Given the description of an element on the screen output the (x, y) to click on. 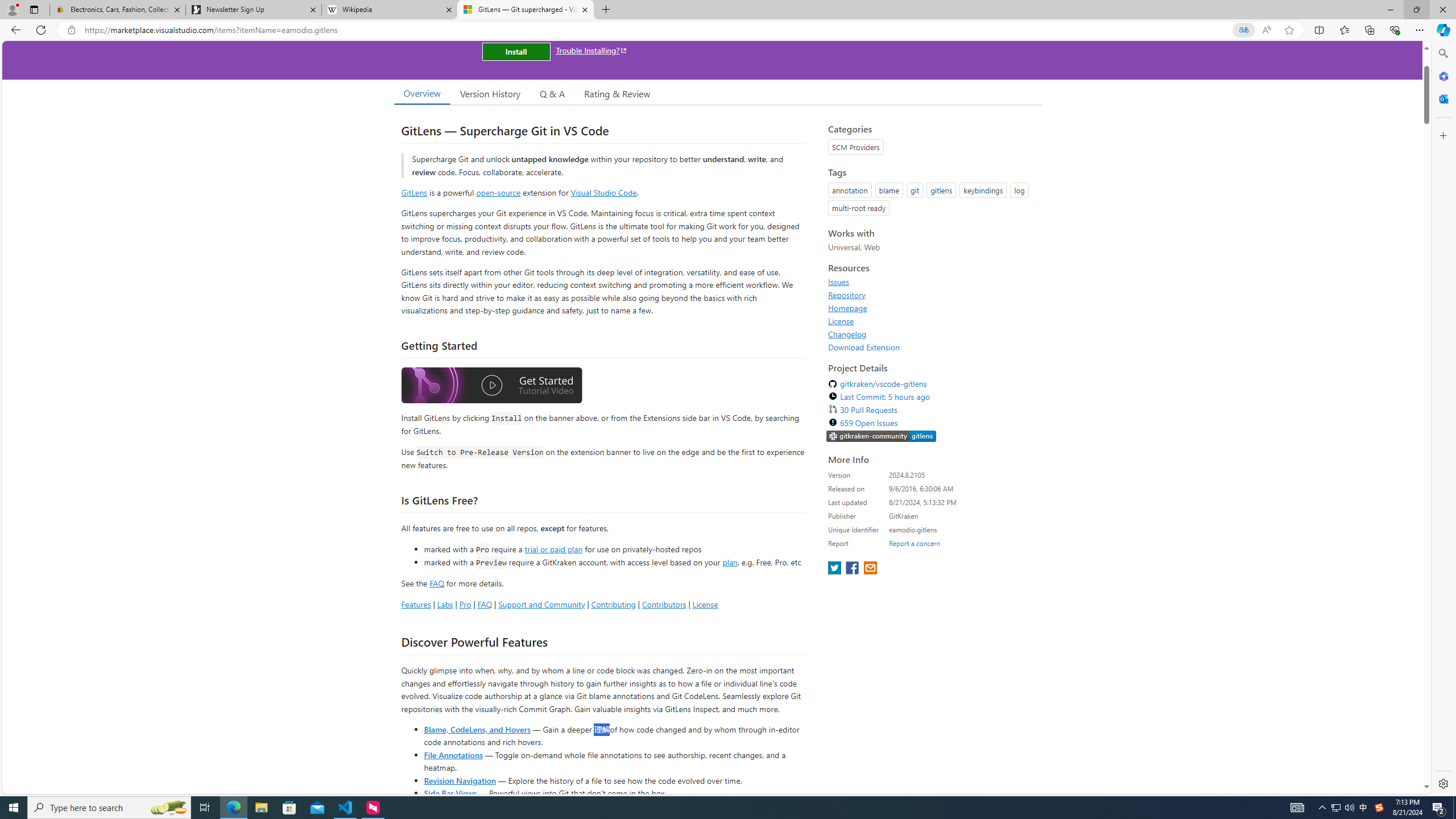
Features (415, 603)
Minimize (1390, 9)
Close tab (584, 9)
Refresh (40, 29)
open-source (498, 192)
Install (515, 51)
Download Extension (931, 346)
Labs (444, 603)
Contributing (613, 603)
Changelog (847, 333)
share extension on facebook (853, 568)
Watch the GitLens Getting Started video (491, 385)
